Given the description of an element on the screen output the (x, y) to click on. 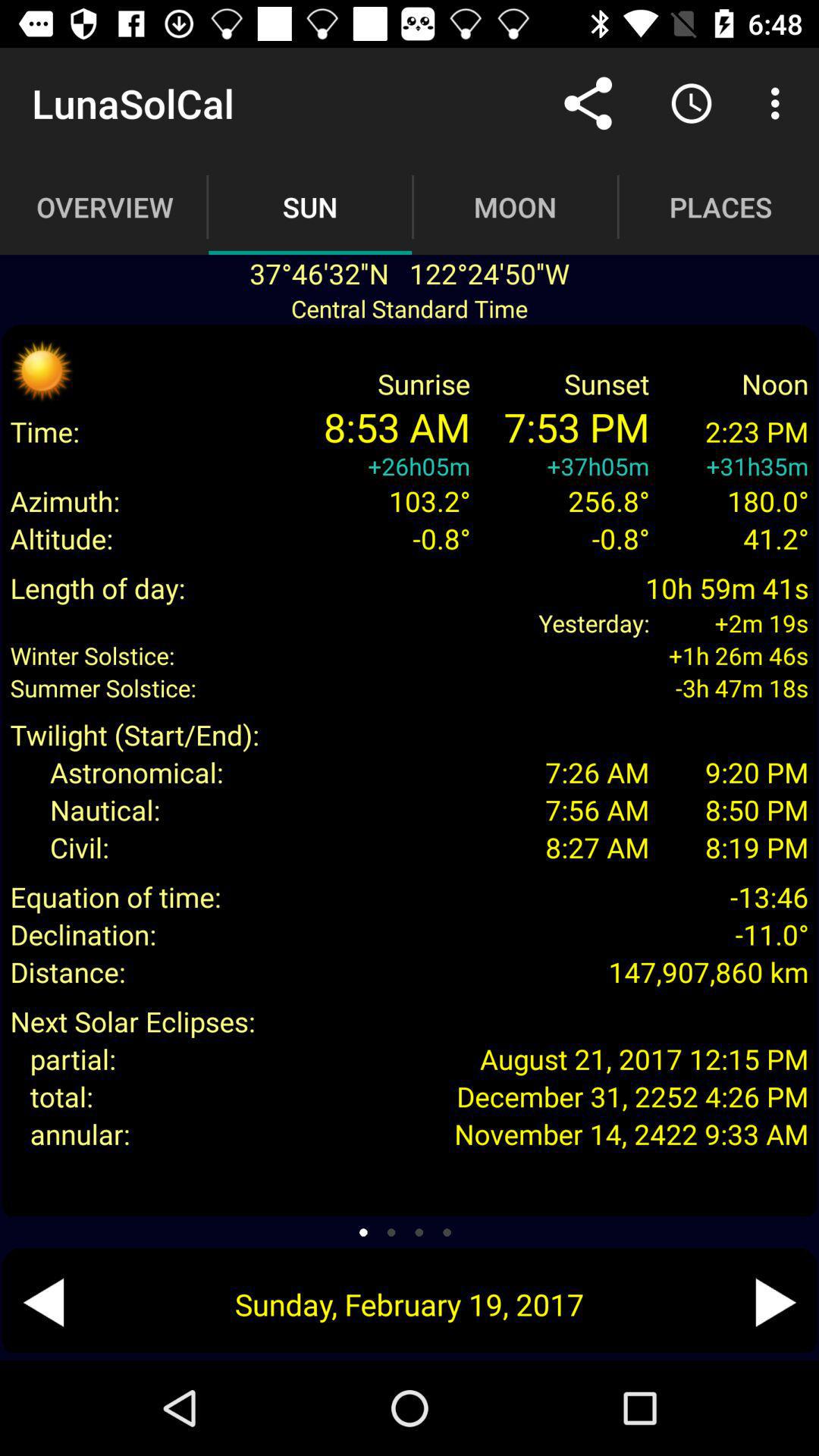
turn off the sunday february 19 item (409, 1304)
